Given the description of an element on the screen output the (x, y) to click on. 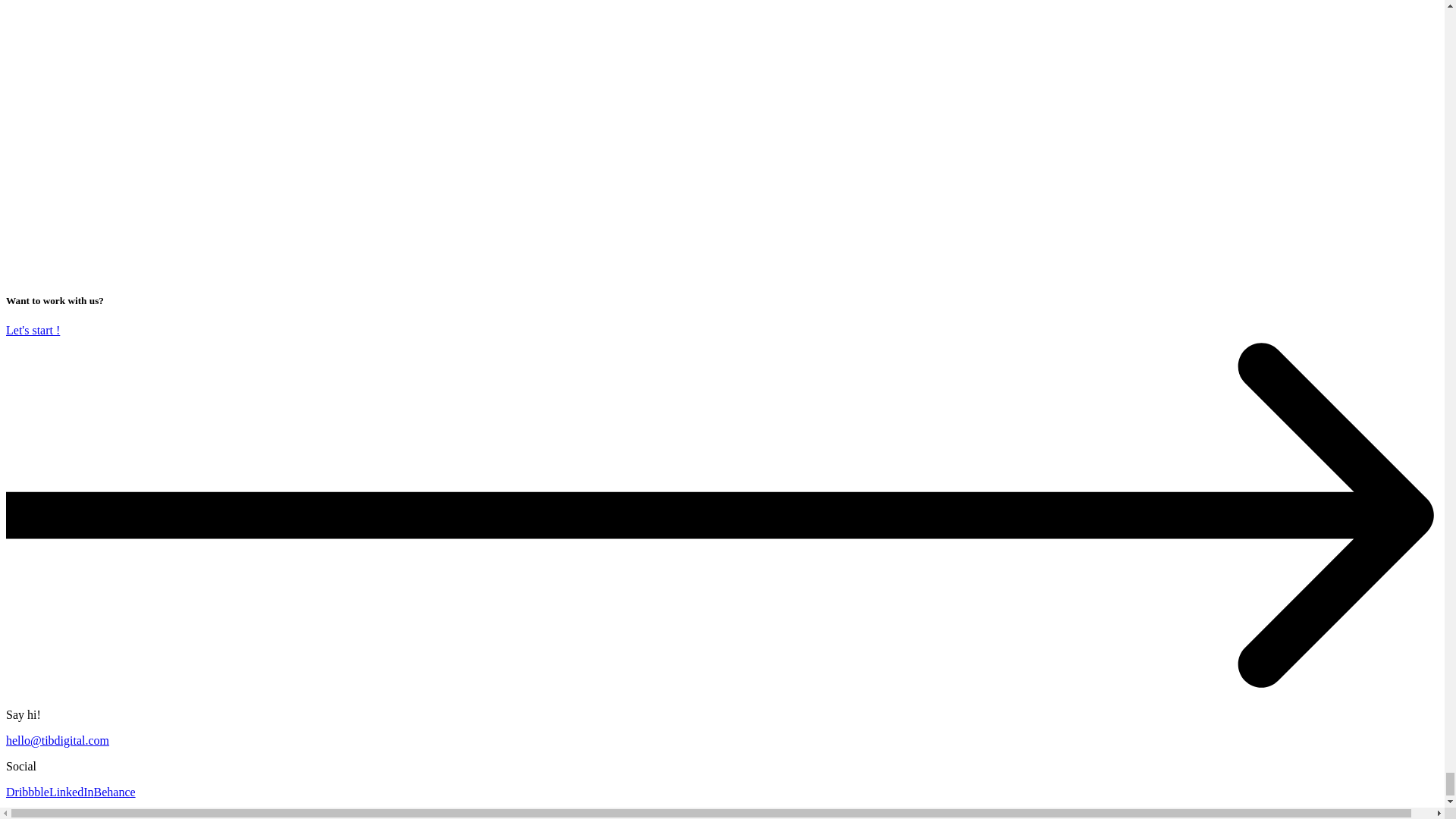
Behance (114, 791)
LinkedIn (71, 791)
Dribbble (27, 791)
